Given the description of an element on the screen output the (x, y) to click on. 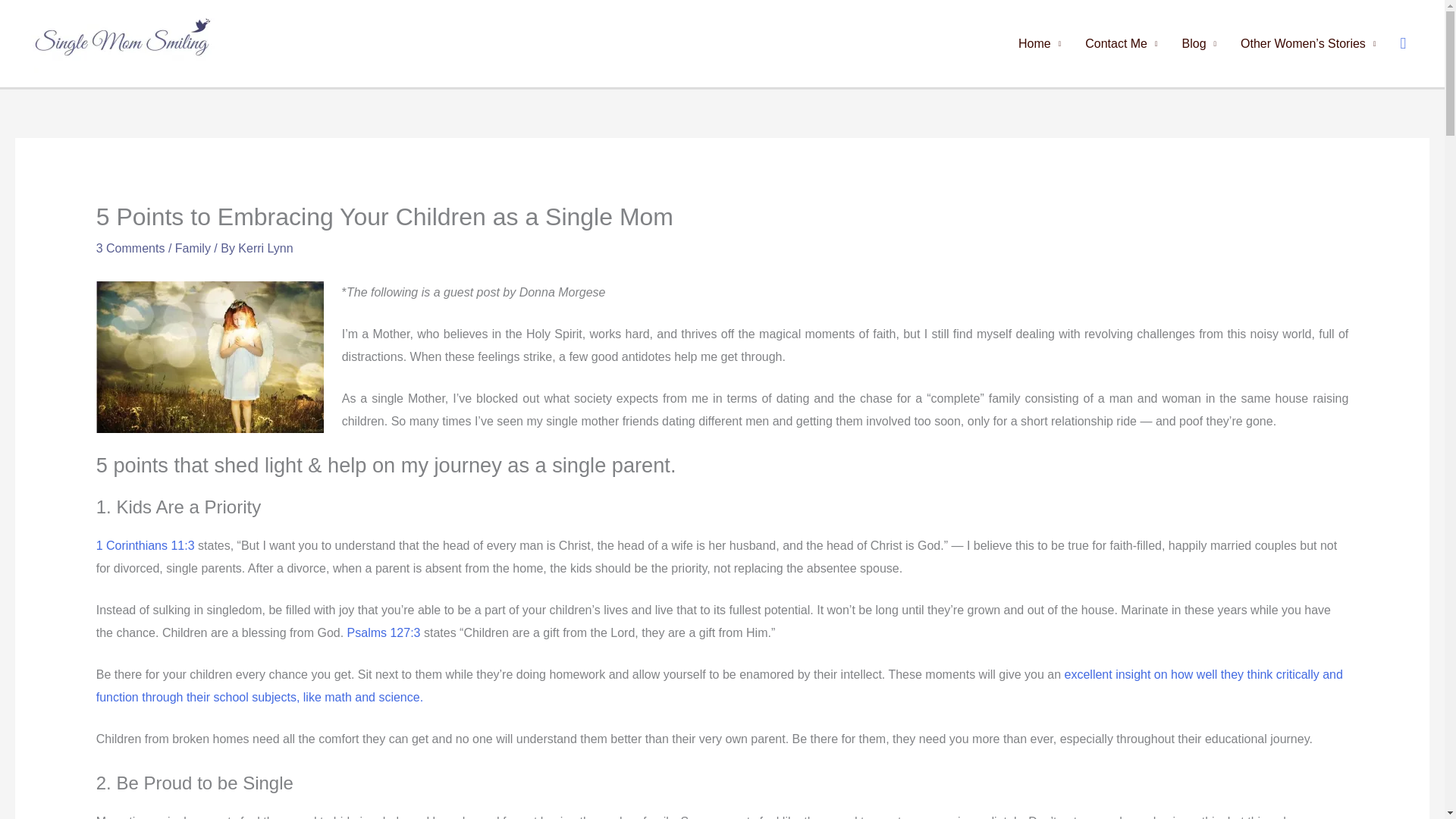
Psalms 127:3 (383, 632)
3 Comments (130, 247)
Home (1039, 43)
Family (192, 247)
1 Corinthians 11:3 (147, 545)
Kerri Lynn (265, 247)
View all posts by Kerri Lynn (265, 247)
Contact Me (1121, 43)
Blog (1199, 43)
